Given the description of an element on the screen output the (x, y) to click on. 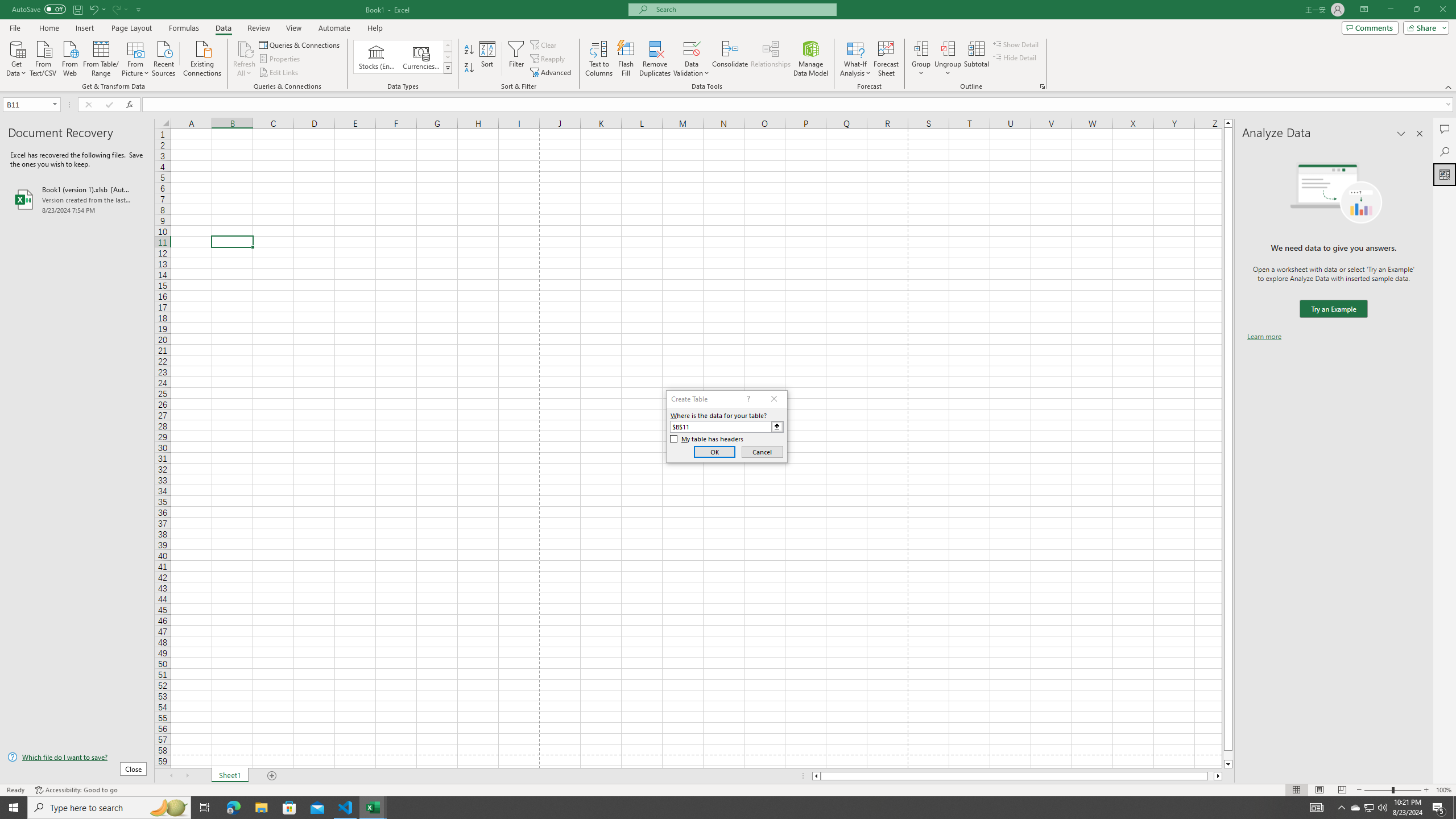
Learn more (1264, 336)
